Given the description of an element on the screen output the (x, y) to click on. 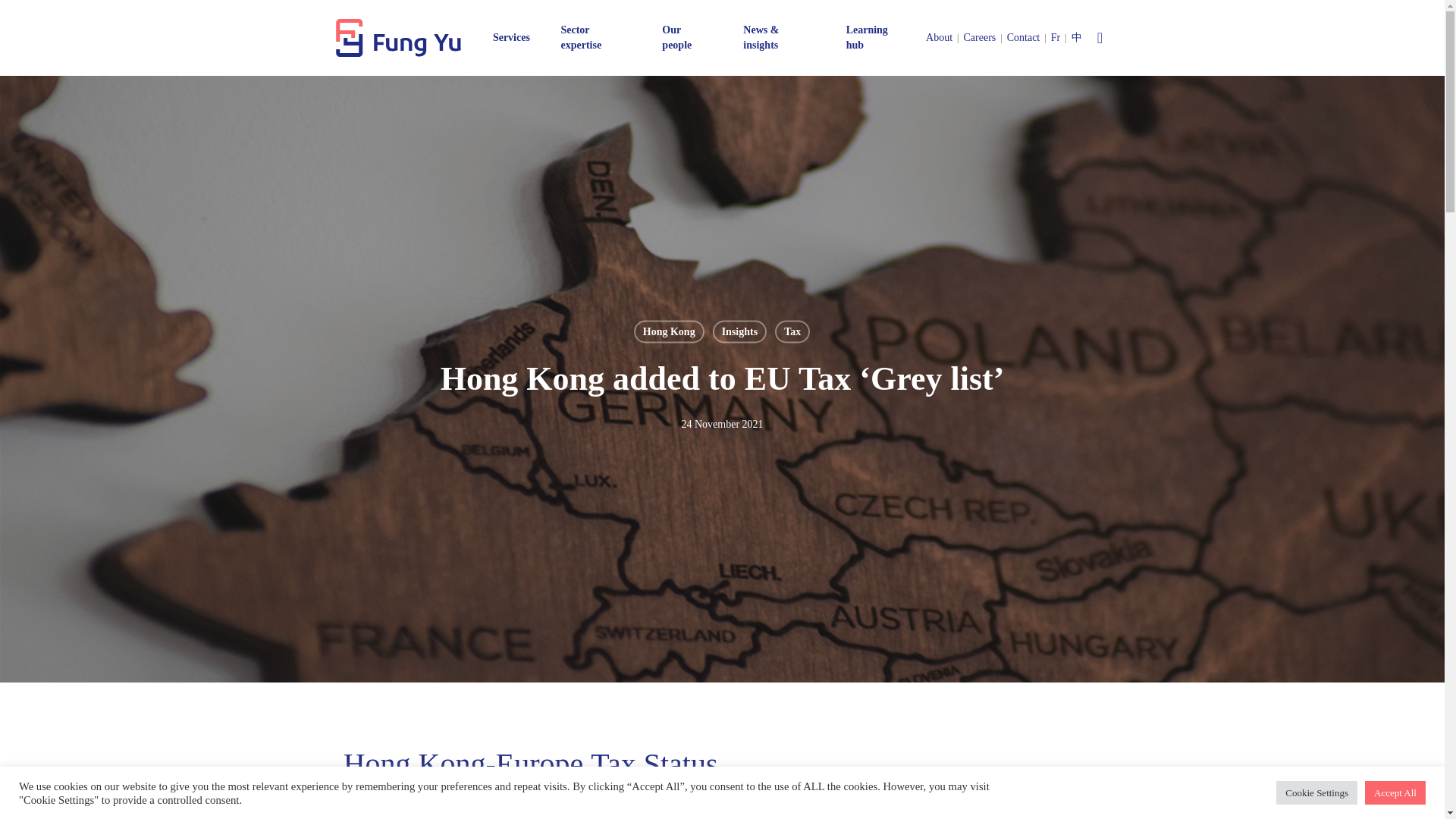
Sector expertise (594, 37)
Learning hub (875, 37)
Contact (1024, 37)
Services (511, 37)
Our people (685, 37)
Fr (1055, 37)
About (938, 37)
search (1099, 37)
Fr (1055, 37)
Careers (980, 37)
